Given the description of an element on the screen output the (x, y) to click on. 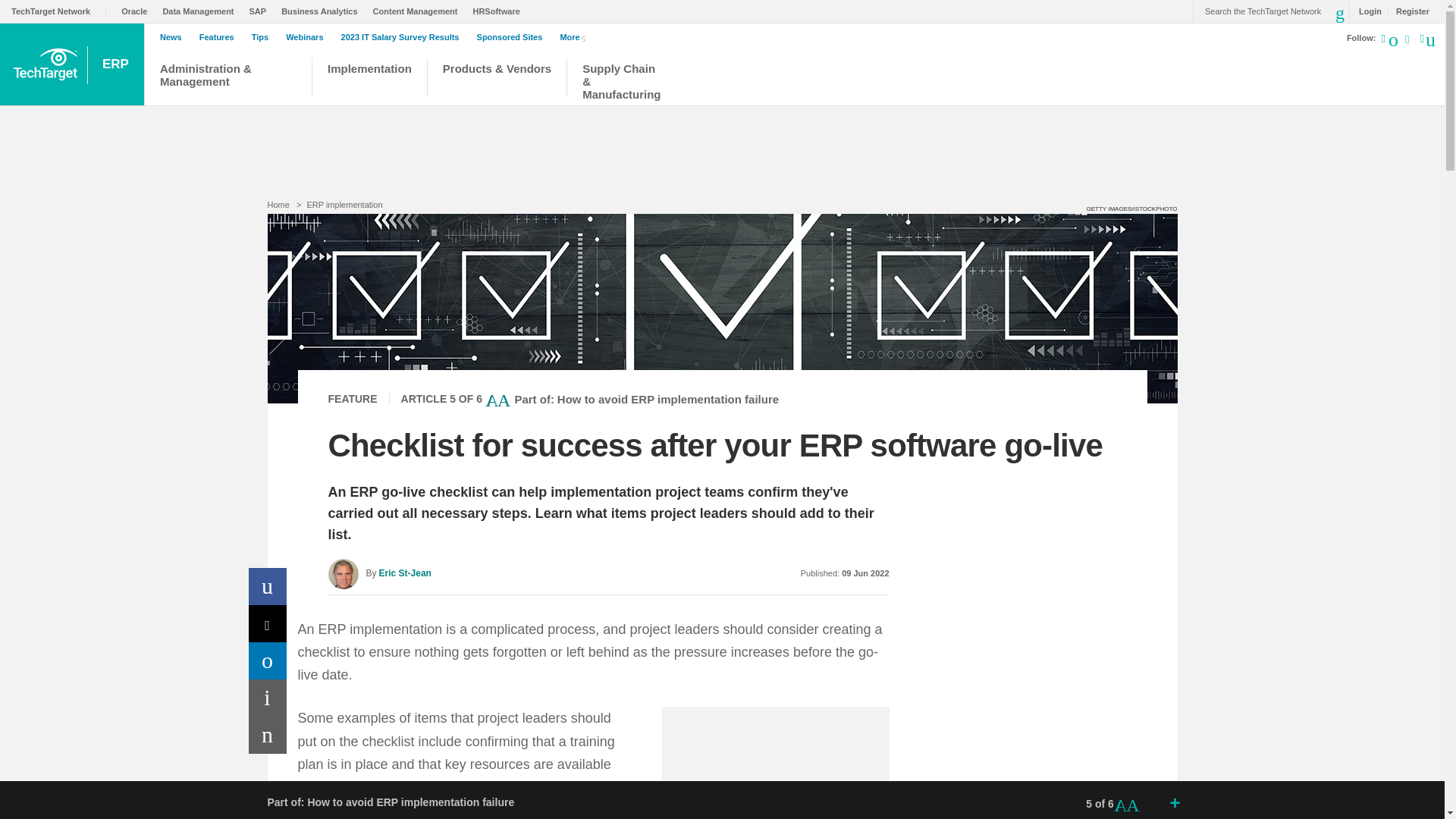
Share on X (267, 623)
SAP (261, 10)
ERP (117, 64)
Oracle (137, 10)
Subscribe to Eye on Tech on Youtube (1406, 40)
Like searchERP on Facebook (1426, 37)
Follow searchERP on LinkedIn (1394, 37)
Features (220, 36)
TechTarget Network (58, 10)
Webinars (307, 36)
Login (1366, 10)
Print This Page (267, 697)
Register (1408, 10)
2023 IT Salary Survey Results (403, 36)
Tips (263, 36)
